Given the description of an element on the screen output the (x, y) to click on. 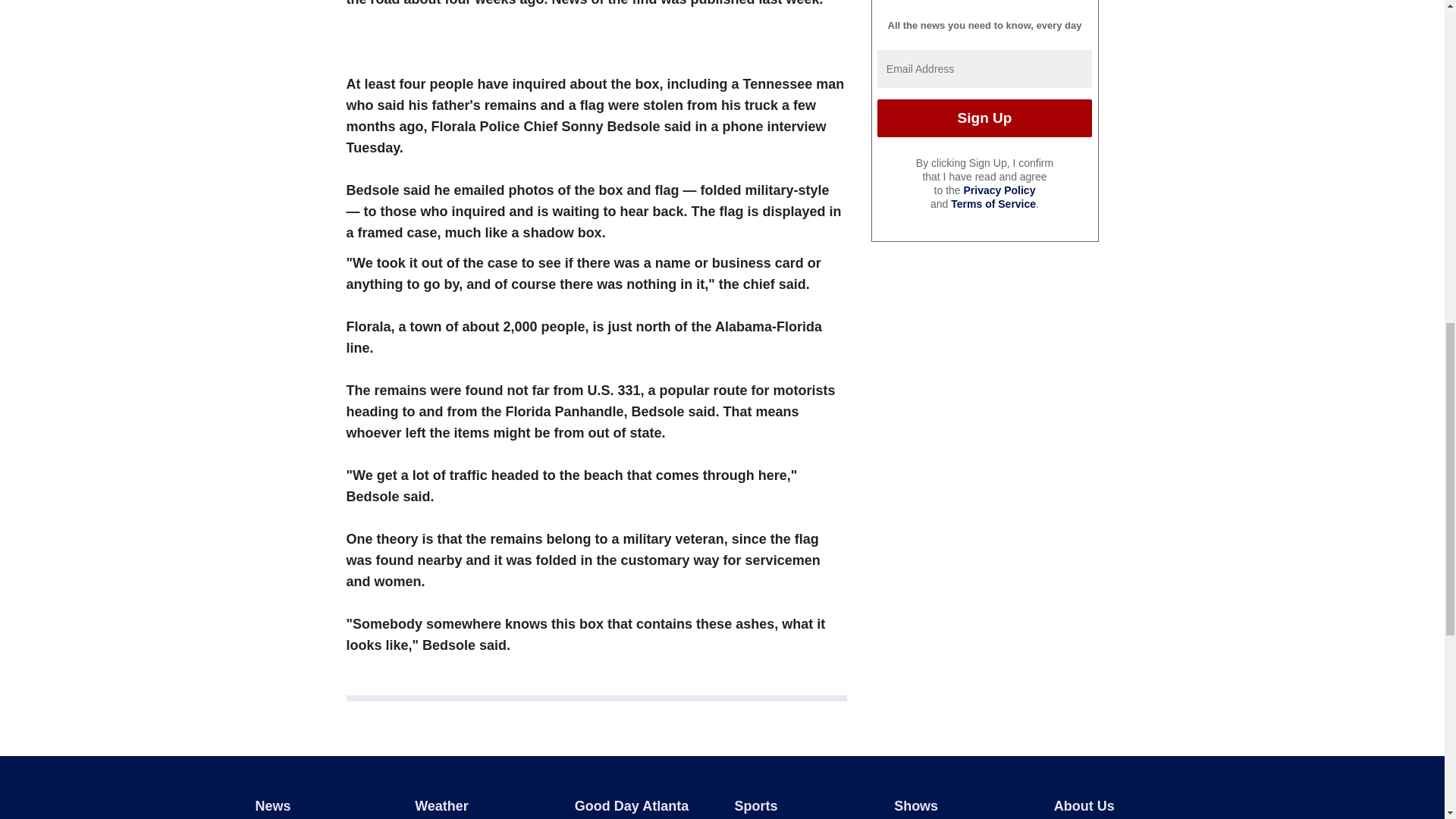
Sign Up (984, 118)
